Given the description of an element on the screen output the (x, y) to click on. 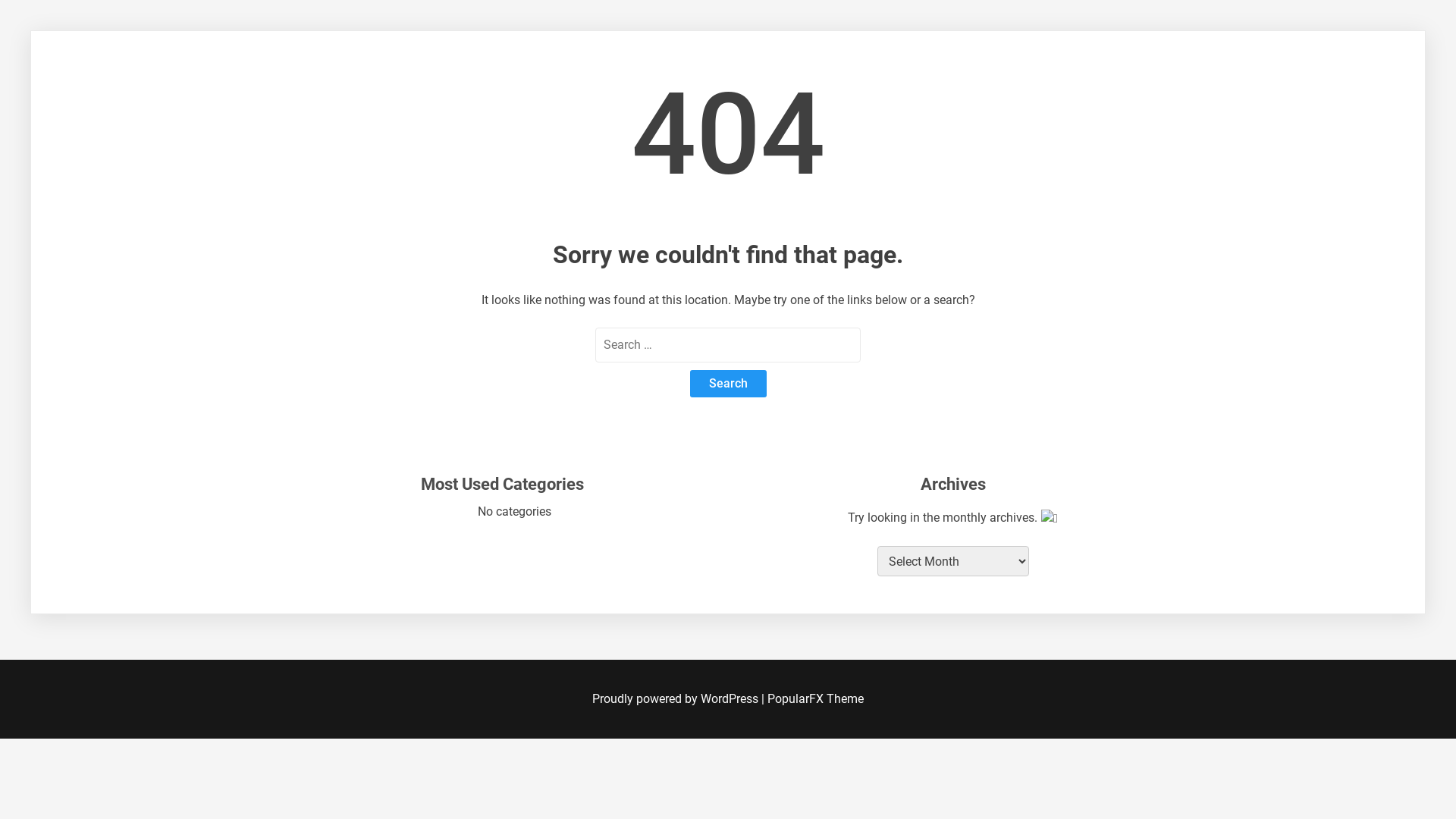
Search Element type: text (728, 383)
Proudly powered by WordPress Element type: text (676, 698)
PopularFX Theme Element type: text (815, 698)
